Given the description of an element on the screen output the (x, y) to click on. 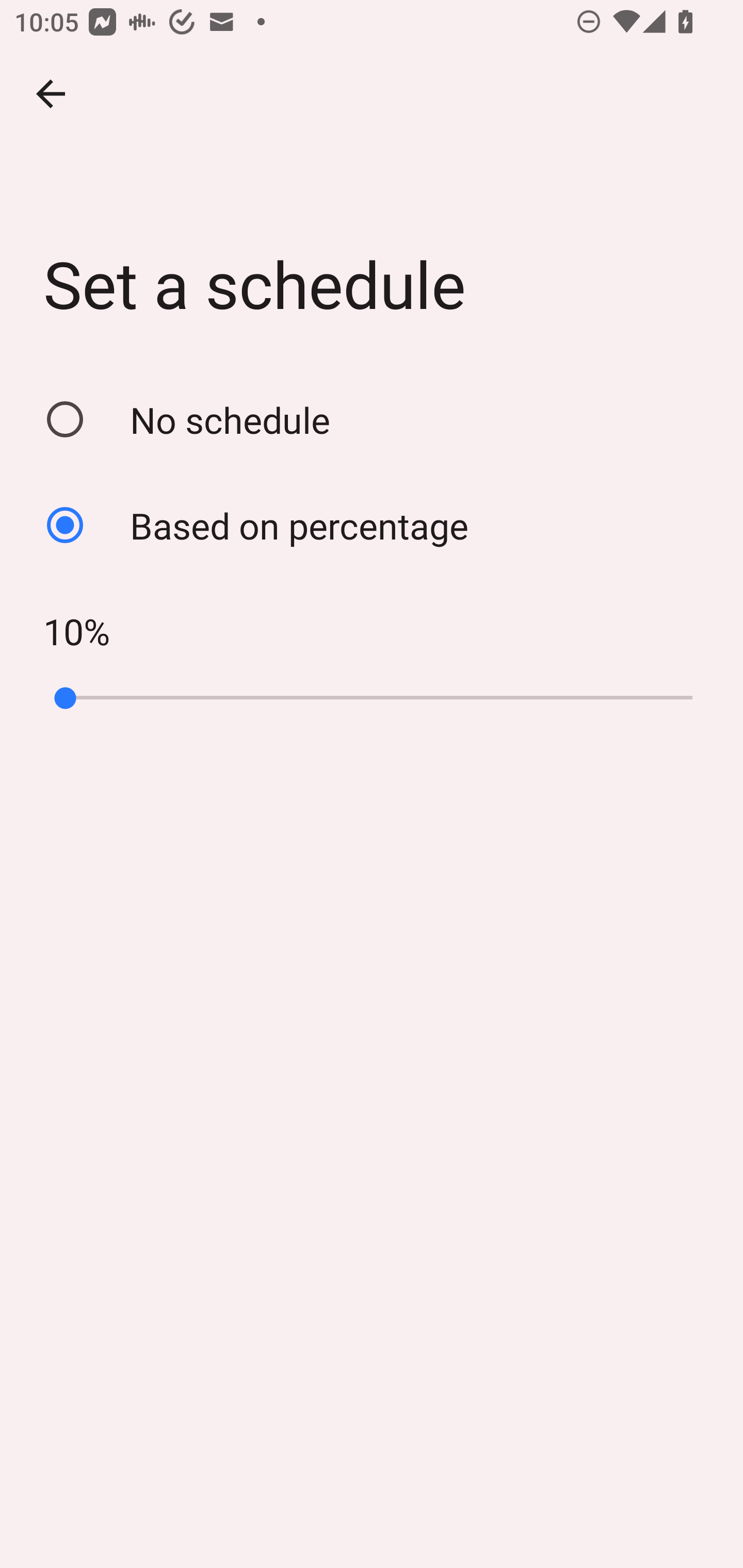
Navigate up (50, 93)
No schedule (371, 418)
Based on percentage (371, 524)
